Given the description of an element on the screen output the (x, y) to click on. 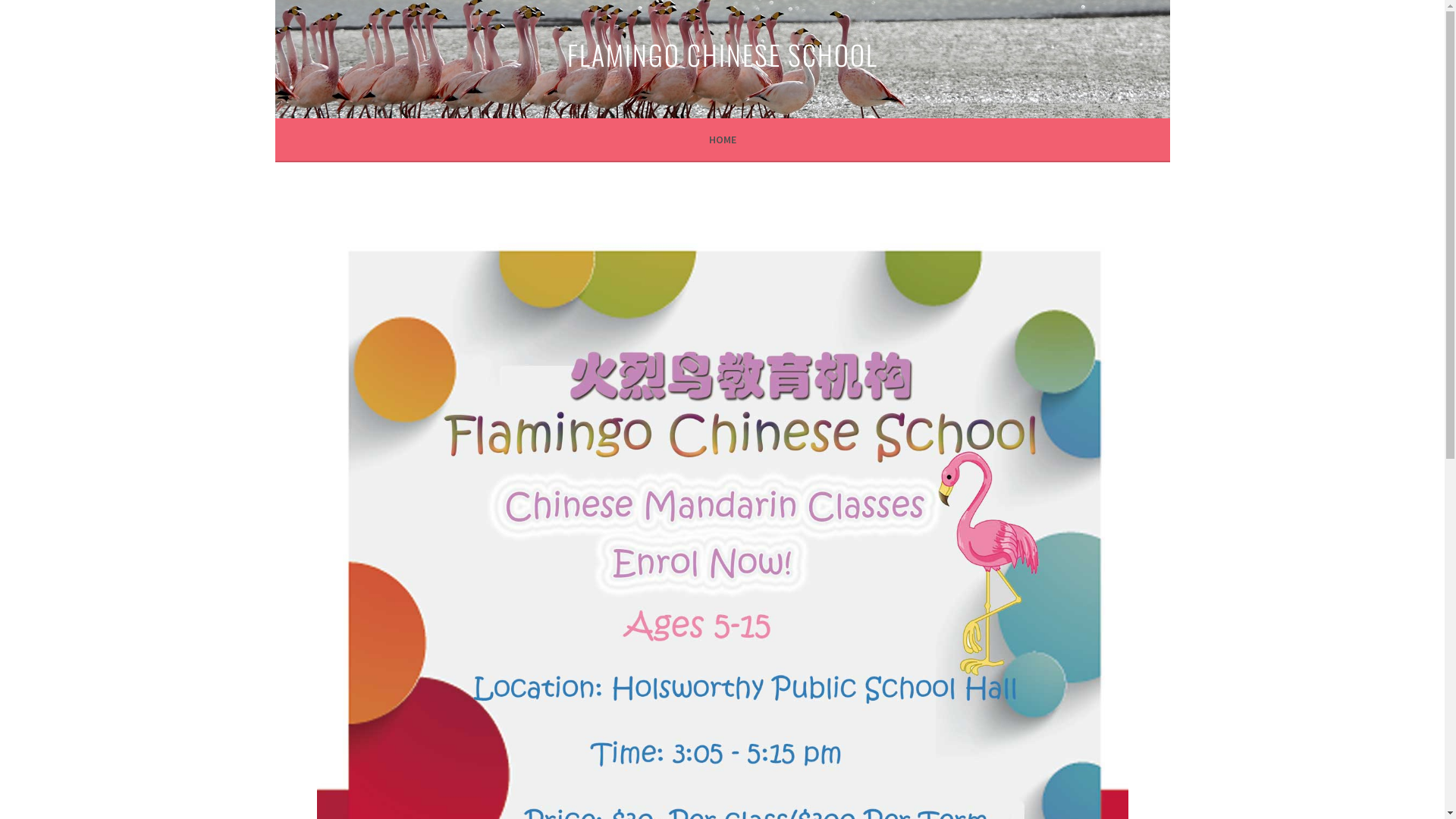
FLAMINGO CHINESE SCHOOL Element type: text (722, 54)
HOME Element type: text (721, 139)
